Given the description of an element on the screen output the (x, y) to click on. 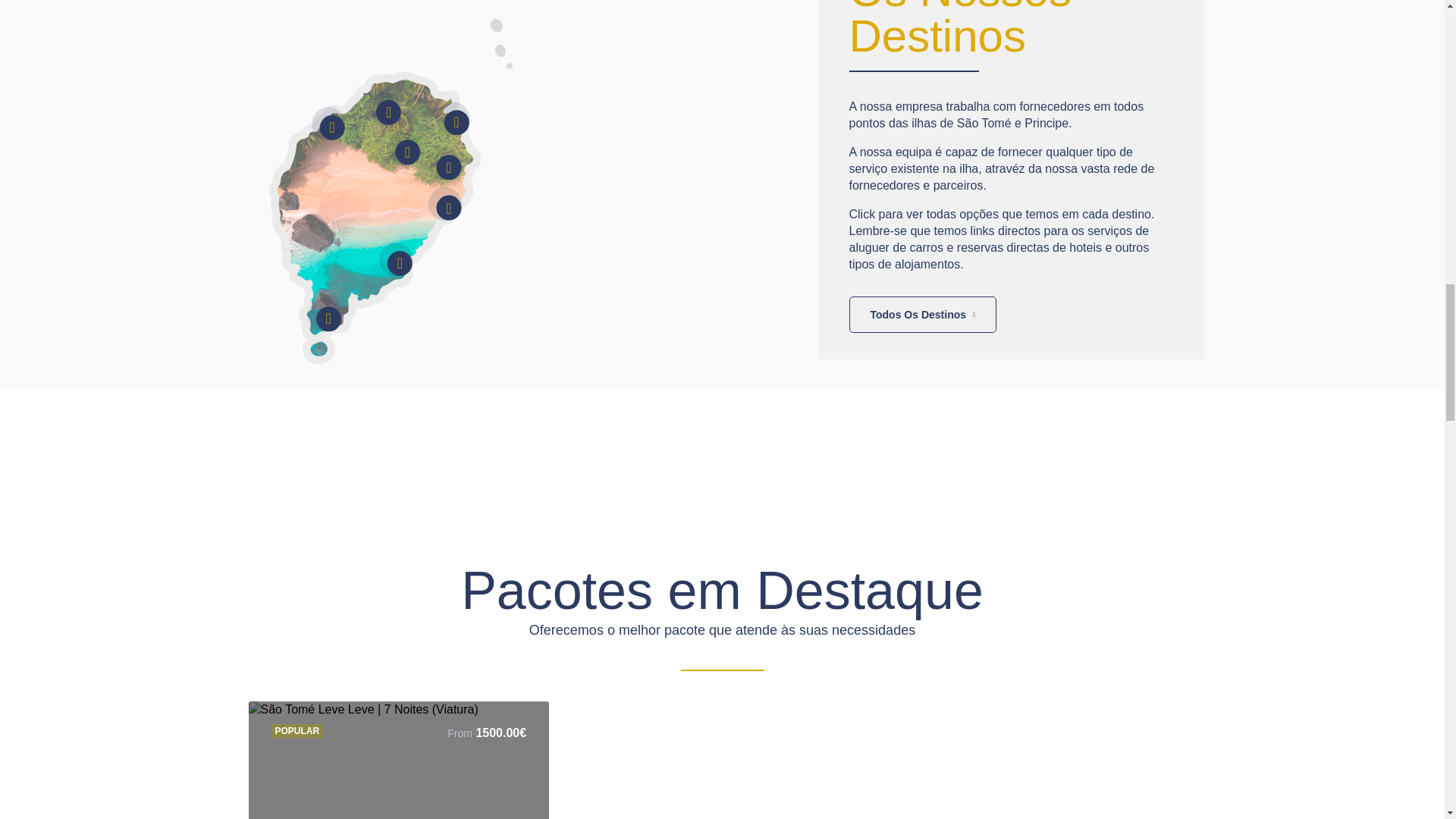
Todos Os Destinos (922, 314)
